Given the description of an element on the screen output the (x, y) to click on. 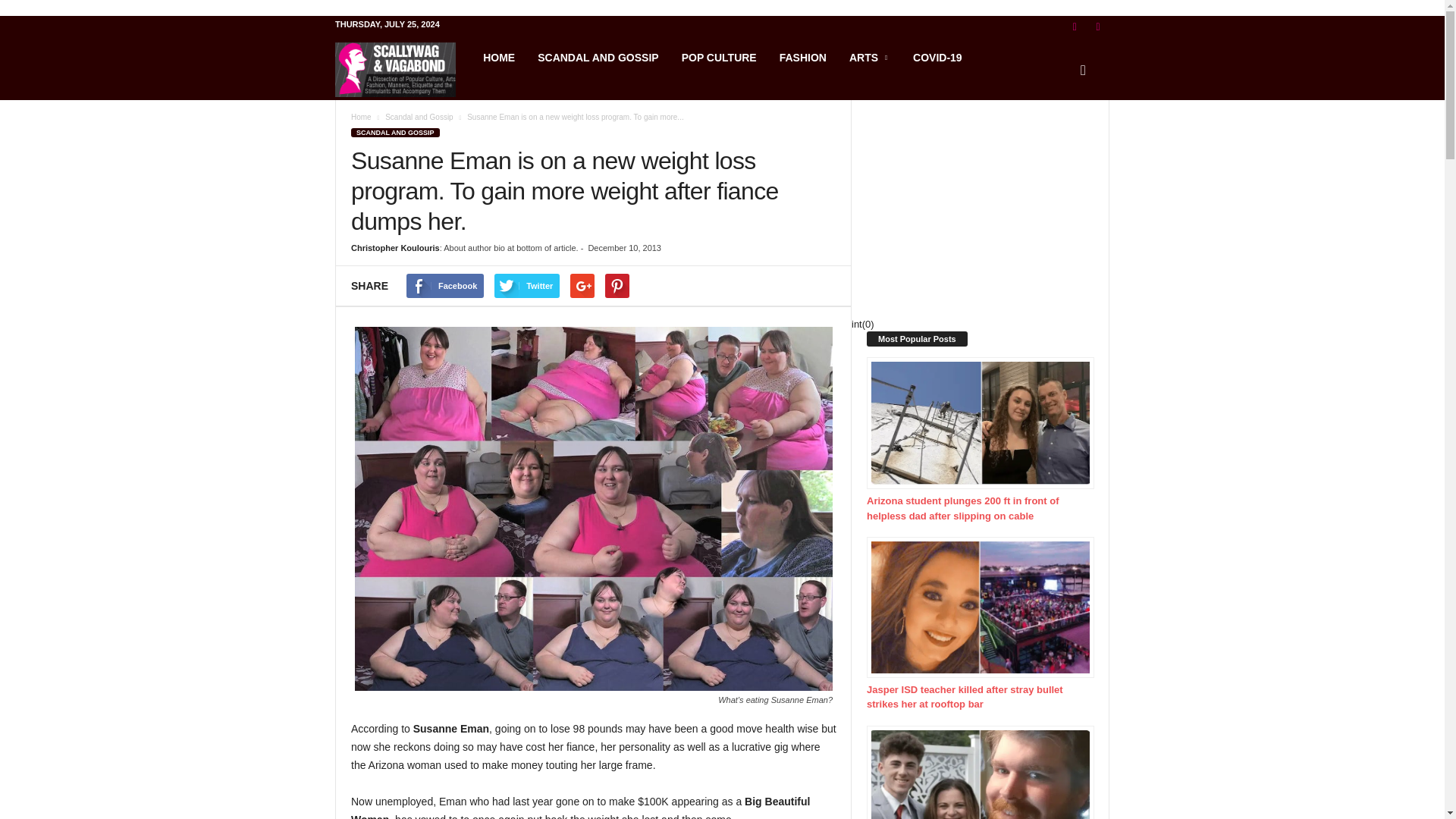
SCANDAL AND GOSSIP (394, 132)
Twitter (527, 285)
ARTS (869, 57)
SCANDAL AND GOSSIP (597, 57)
HOME (498, 57)
Christopher Koulouris (394, 247)
Home (360, 117)
Scandal and Gossip (418, 117)
COVID-19 (937, 57)
Scallywag and Vagabond (402, 69)
Facebook (444, 285)
POP CULTURE (718, 57)
